Given the description of an element on the screen output the (x, y) to click on. 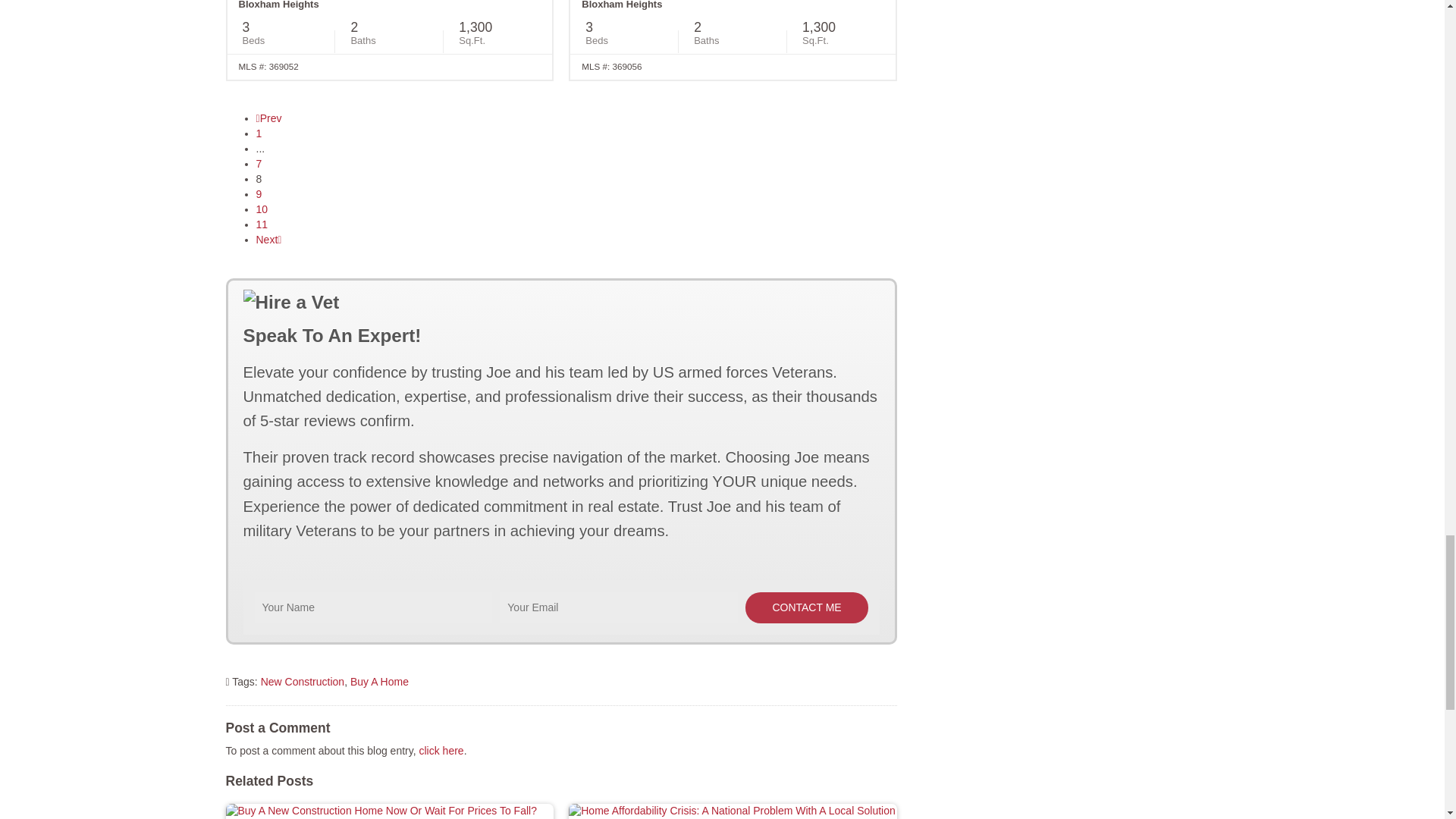
CONTACT ME (806, 607)
